Given the description of an element on the screen output the (x, y) to click on. 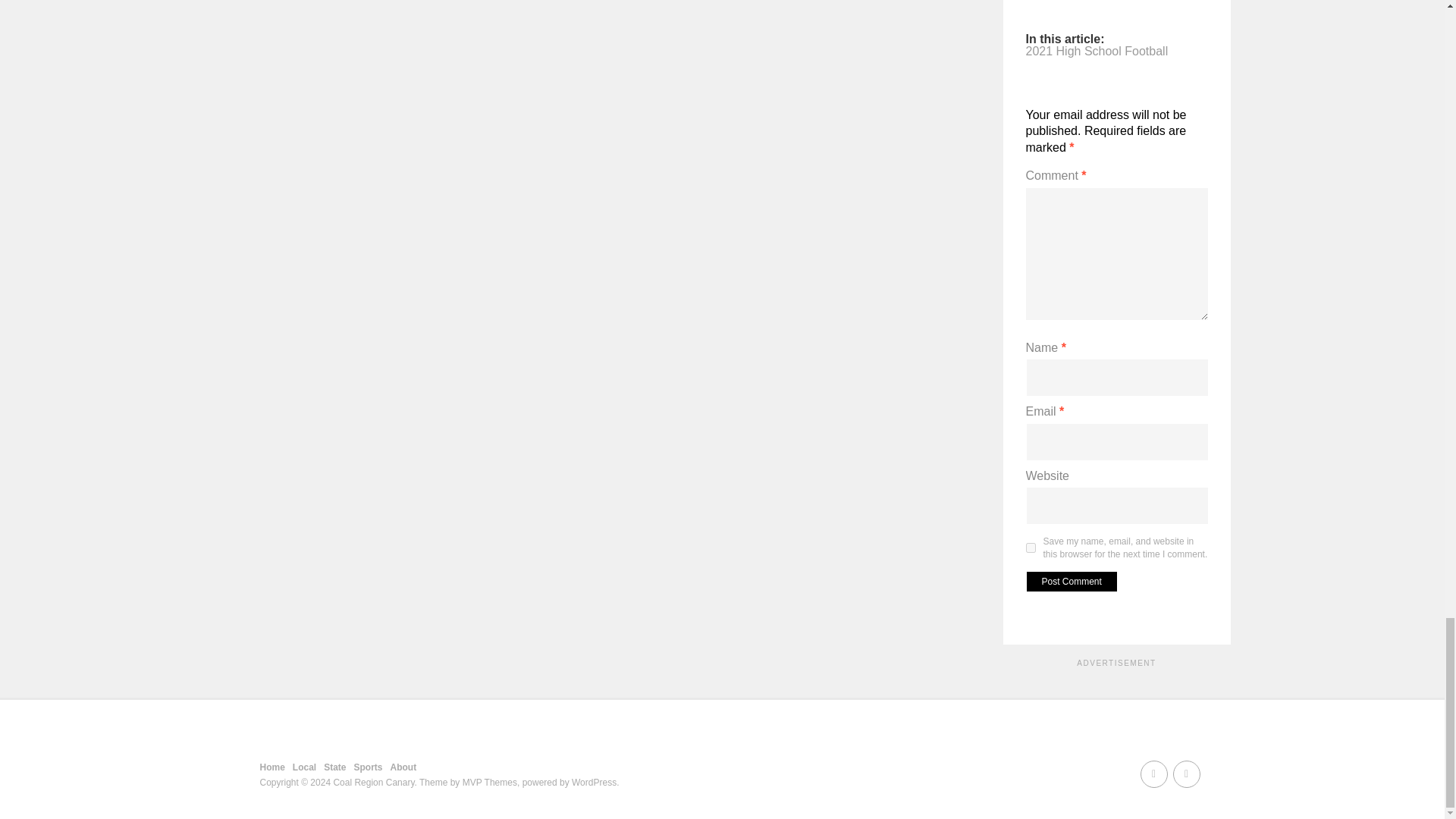
Post Comment (1071, 581)
